Given the description of an element on the screen output the (x, y) to click on. 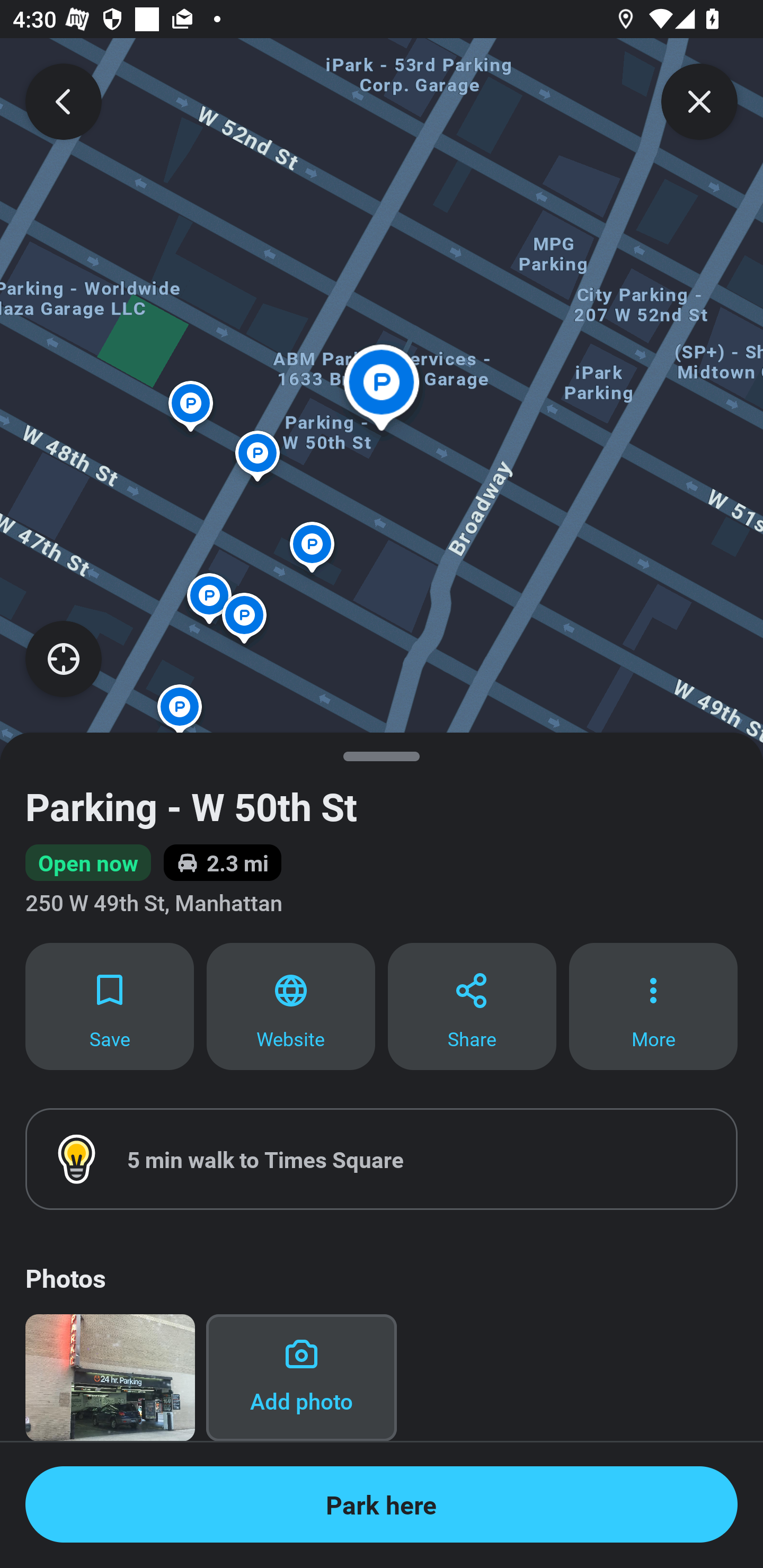
Save (109, 1005)
Website (290, 1005)
Share (471, 1005)
More (653, 1005)
Add photo (301, 1376)
Park here (381, 1504)
